Given the description of an element on the screen output the (x, y) to click on. 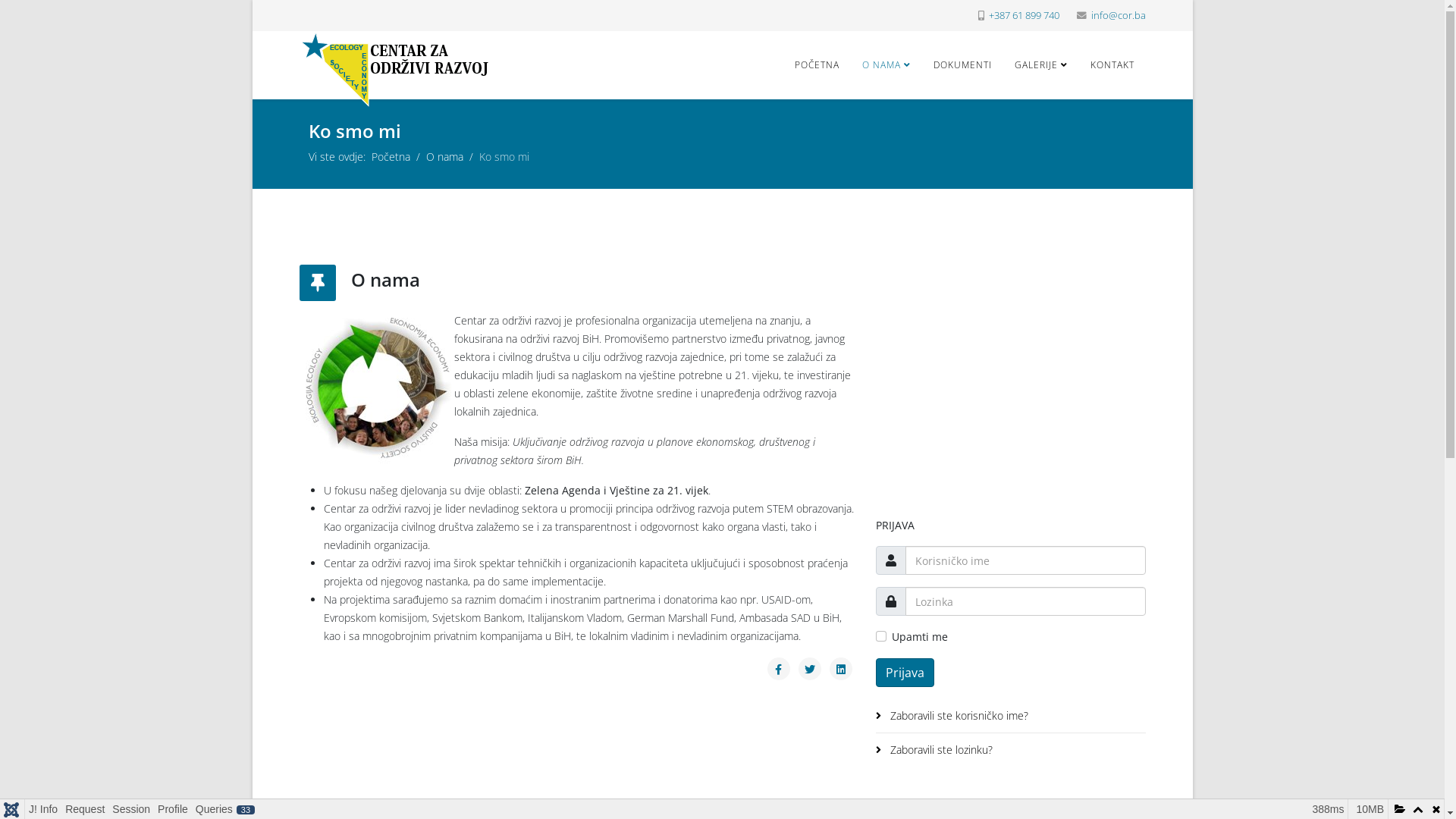
info@cor.ba Element type: text (1117, 15)
O NAMA Element type: text (886, 65)
Prijava Element type: text (904, 672)
KONTAKT Element type: text (1111, 65)
Lozinka Element type: hover (890, 601)
Zaboravili ste lozinku? Element type: text (1010, 749)
O nama Element type: text (444, 156)
+387 61 899 740 Element type: text (1023, 15)
DOKUMENTI Element type: text (962, 65)
GALERIJE Element type: text (1040, 65)
